Given the description of an element on the screen output the (x, y) to click on. 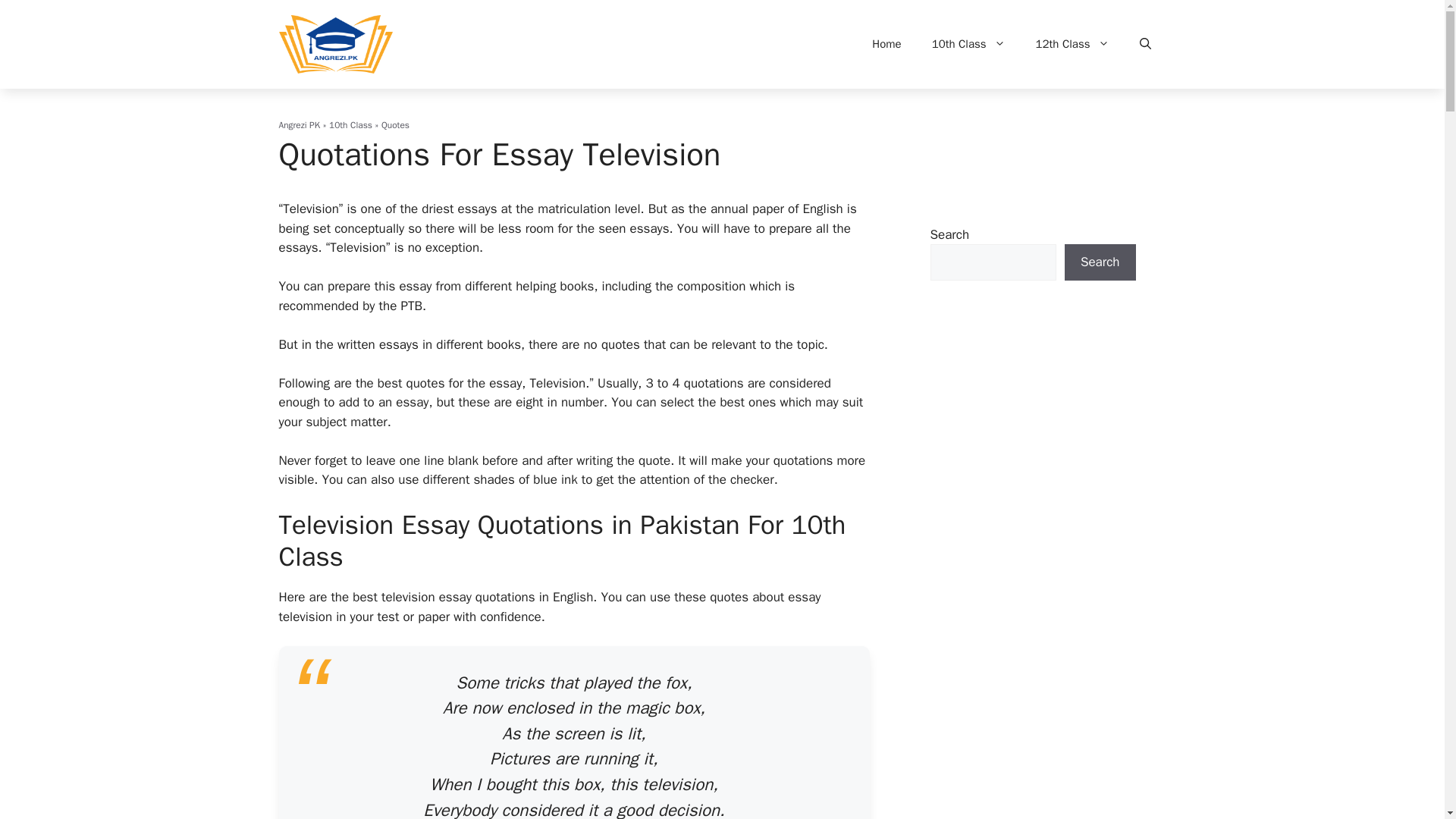
Quotes (395, 125)
Home (886, 43)
10th Class (350, 125)
10th Class (968, 43)
Search (1099, 262)
12th Class (1072, 43)
Angrezi PK (299, 125)
